Given the description of an element on the screen output the (x, y) to click on. 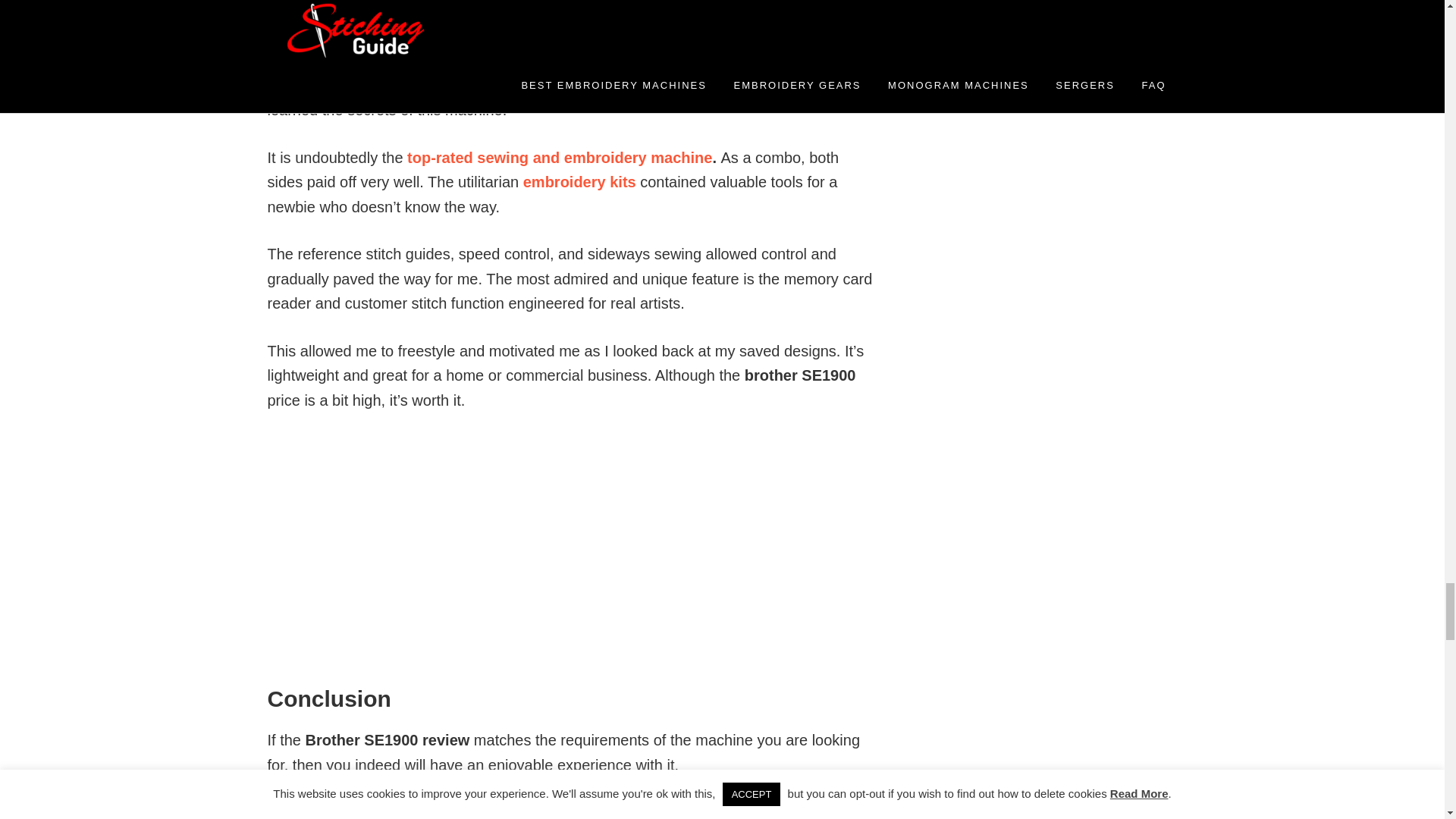
top-rated sewing and embroidery machine (558, 157)
embroidery kits (579, 181)
